Given the description of an element on the screen output the (x, y) to click on. 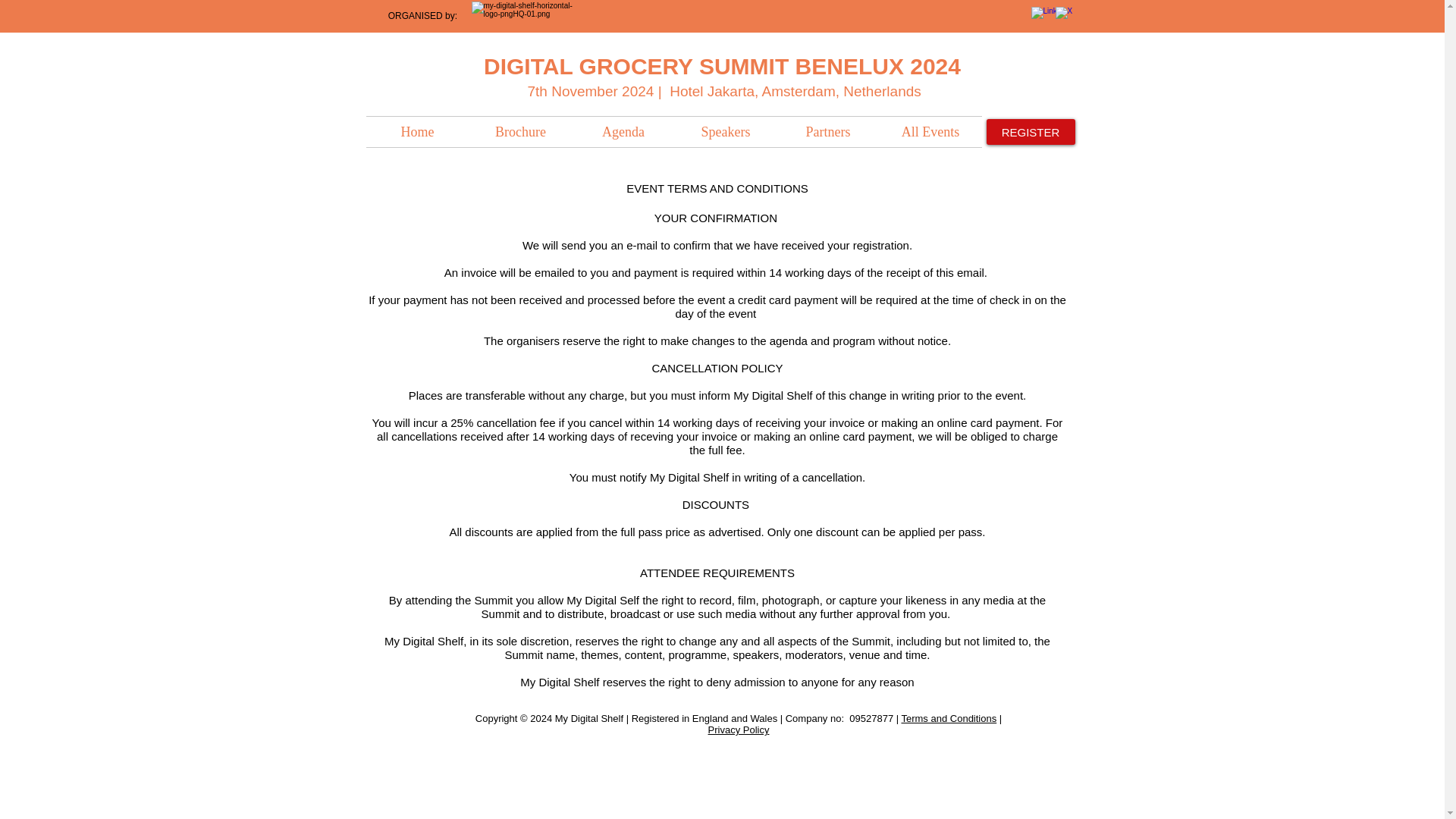
Terms and Conditions (948, 717)
REGISTER (1029, 131)
Agenda (623, 132)
Privacy Policy (738, 729)
Brochure (520, 132)
Home (416, 132)
All Events (930, 132)
Speakers (726, 132)
Partners (827, 132)
